Given the description of an element on the screen output the (x, y) to click on. 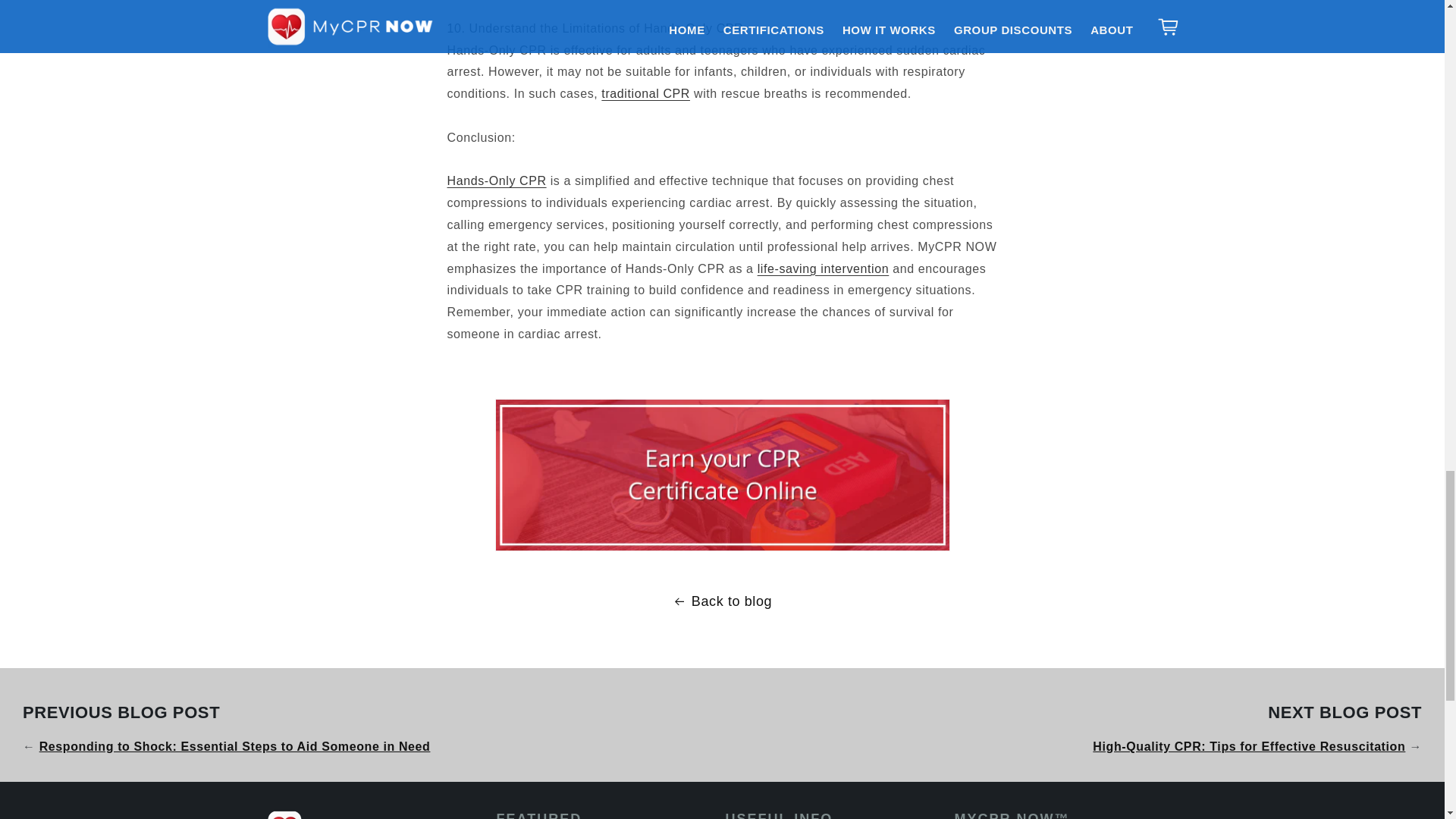
life-saving intervention (823, 268)
CPR Certification (496, 180)
Hands-Only CPR (496, 180)
CPR Certification (721, 474)
Hands-Only CPR vs. Traditional CPR  (645, 92)
traditional CPR (645, 92)
